Given the description of an element on the screen output the (x, y) to click on. 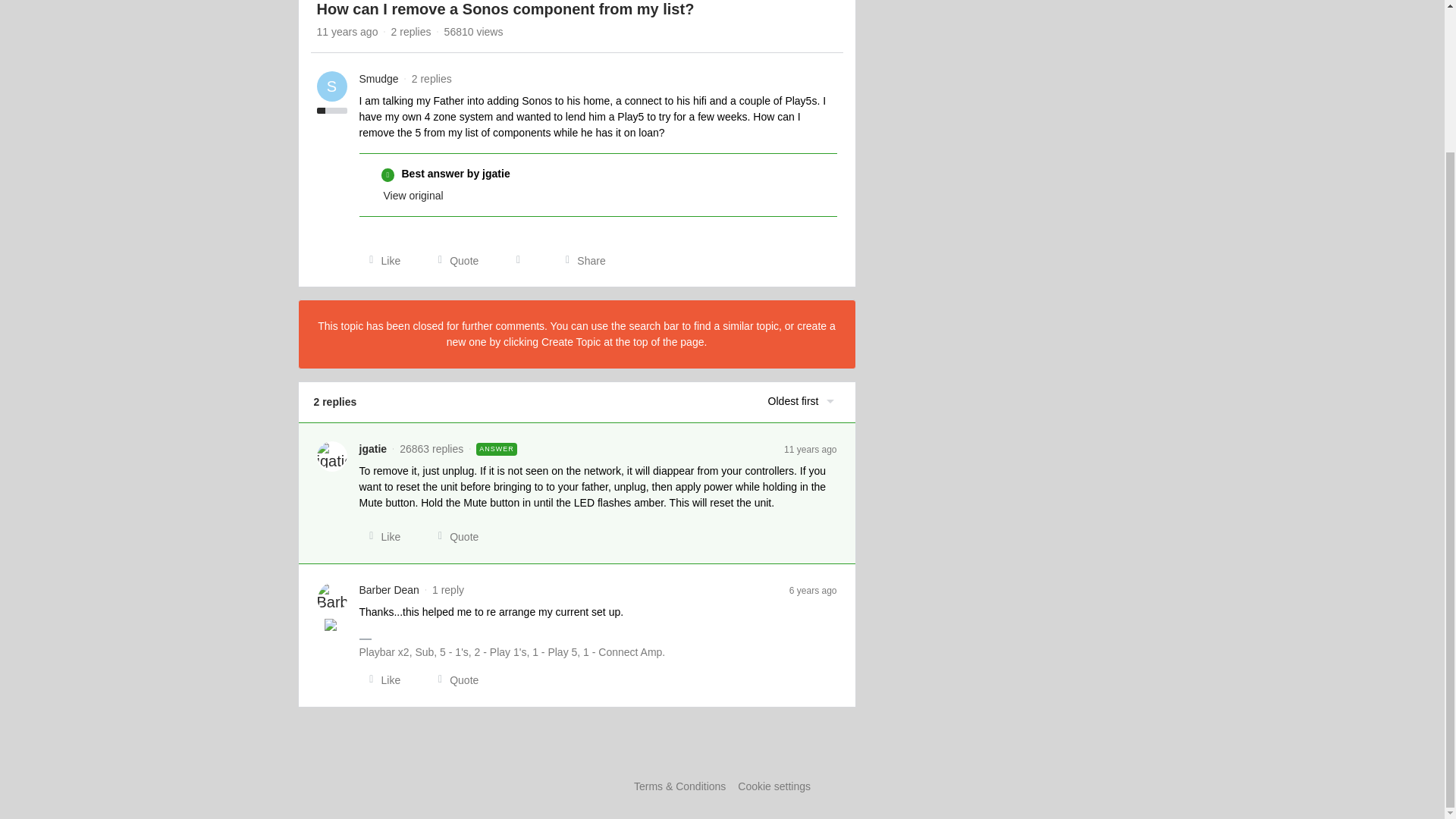
Meet and greet (331, 626)
S (332, 86)
Barber Dean (389, 590)
Smudge (378, 78)
2 replies (410, 31)
Visit Gainsight.com (722, 754)
jgatie (373, 449)
